Given the description of an element on the screen output the (x, y) to click on. 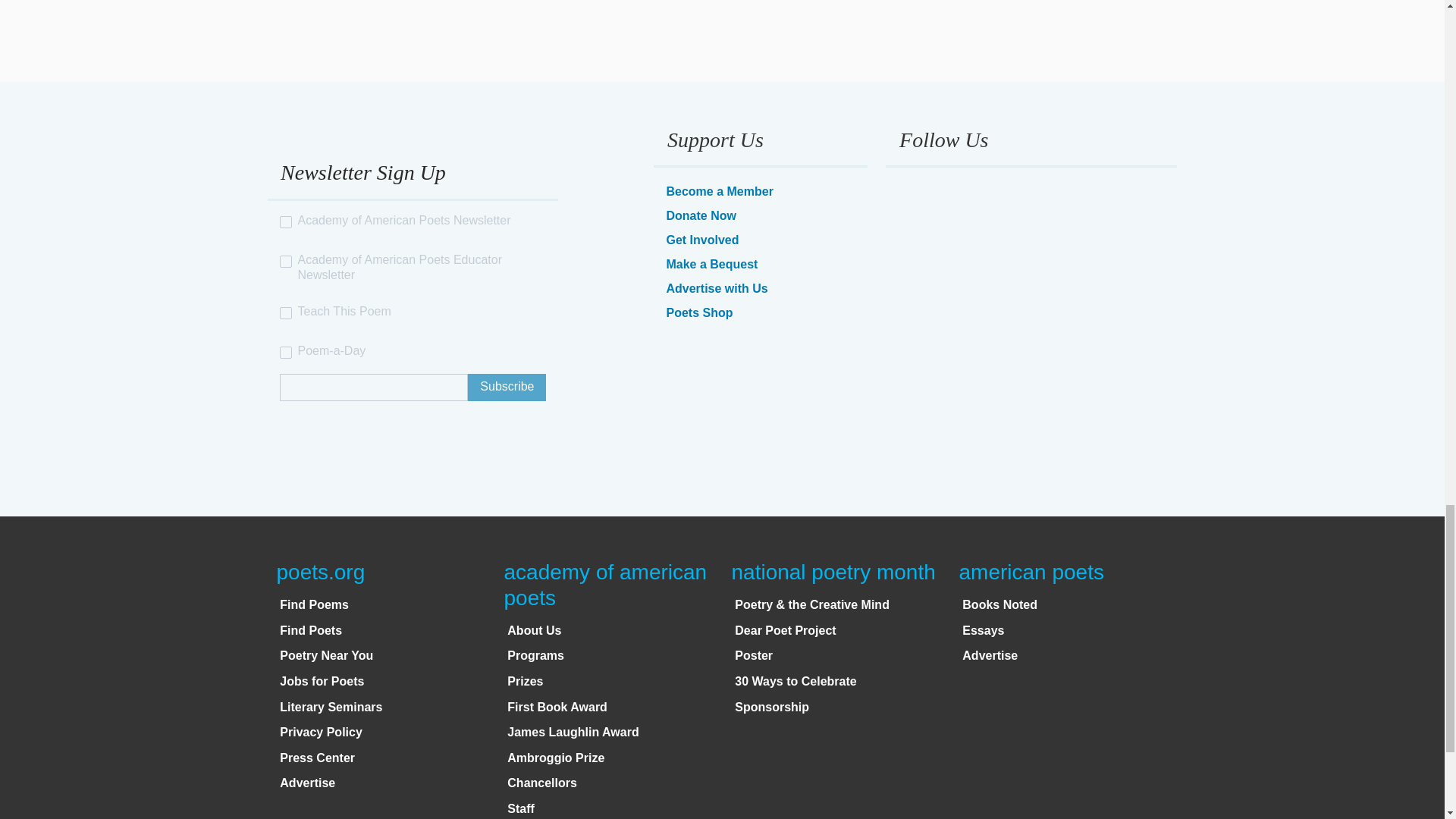
Poetry Near You (325, 655)
Literary Seminars (330, 707)
Subscribe (506, 387)
Jobs for Poets (321, 680)
